Given the description of an element on the screen output the (x, y) to click on. 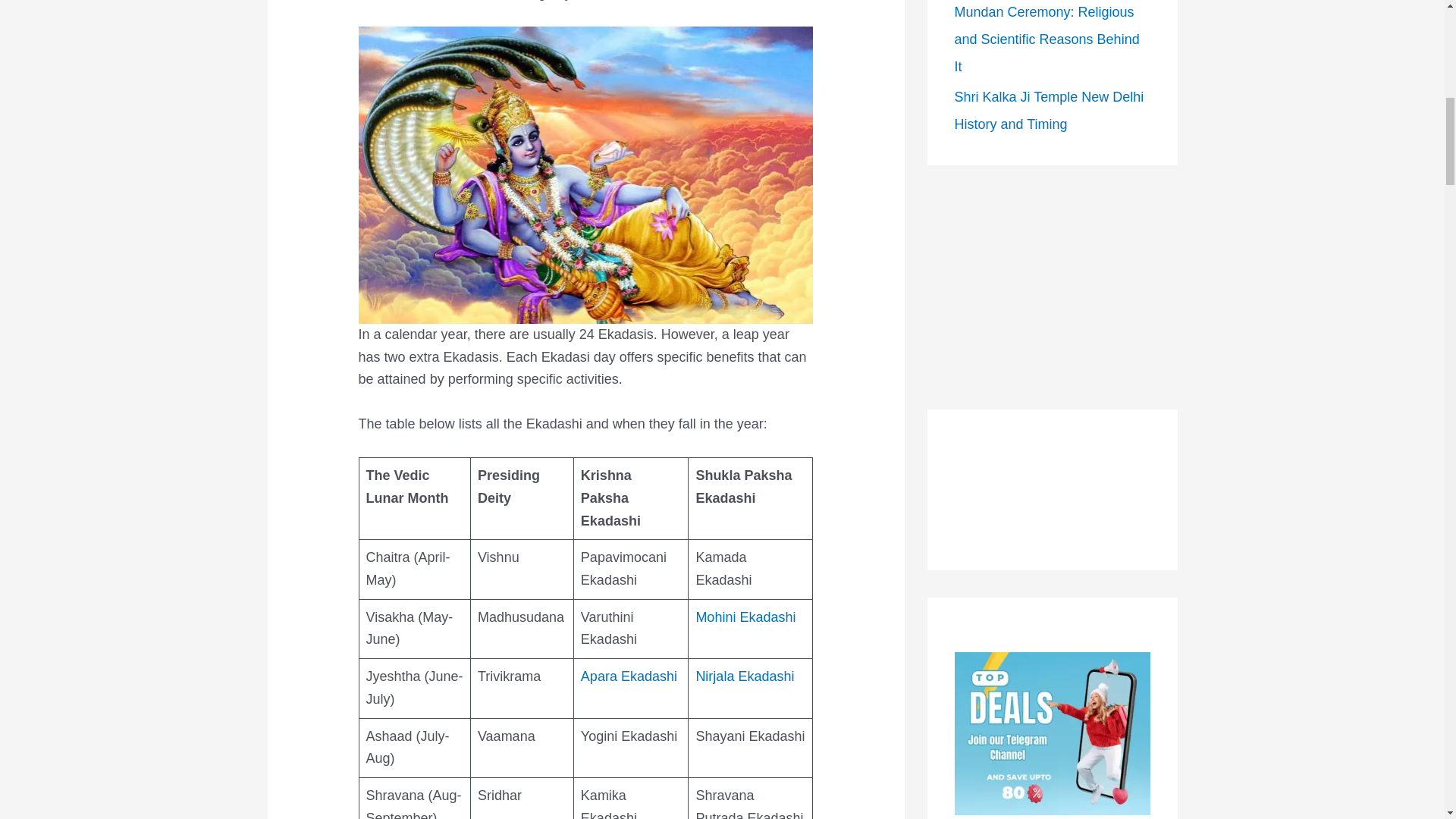
Mundan Ceremony: Religious and Scientific Reasons Behind It (1045, 39)
Shri Kalka Ji Temple New Delhi History and Timing (1047, 110)
Nirjala Ekadashi (744, 676)
Mohini Ekadashi (744, 616)
Advertisement (1051, 287)
Apara Ekadashi (628, 676)
